Given the description of an element on the screen output the (x, y) to click on. 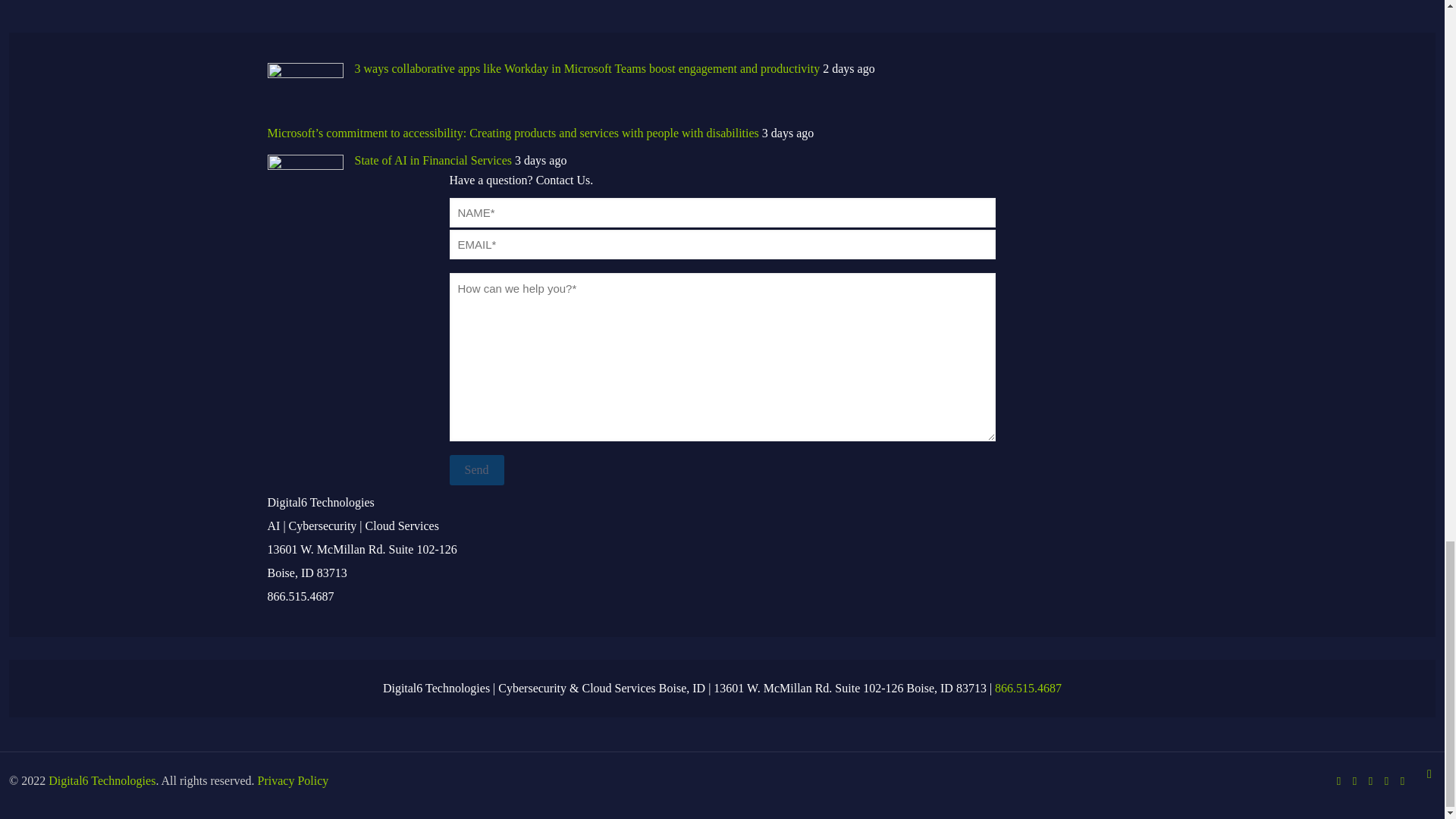
Skype (1338, 780)
Send (475, 469)
LinkedIn (1385, 780)
RSS (1401, 780)
YouTube (1370, 780)
